Given the description of an element on the screen output the (x, y) to click on. 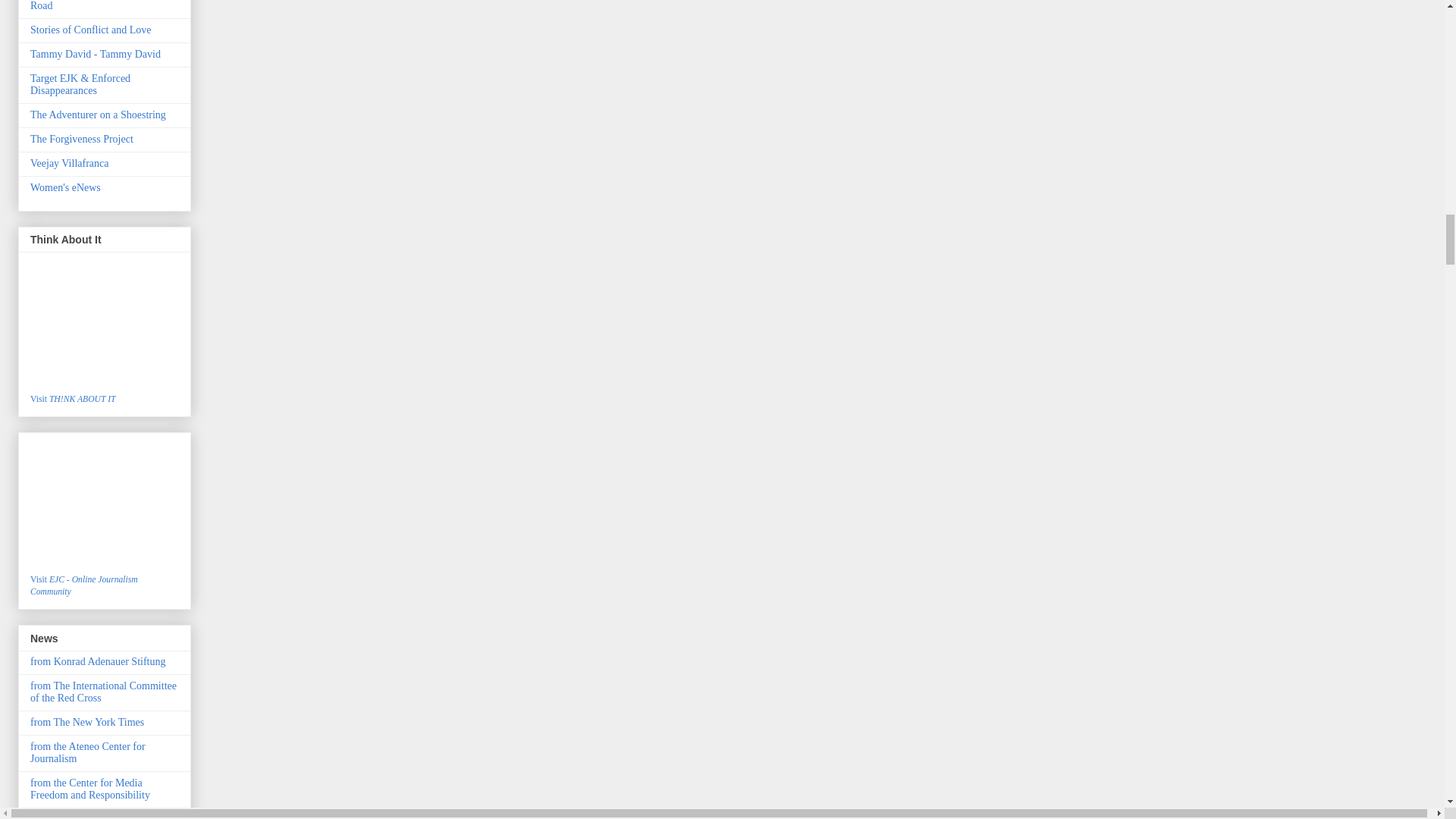
Stories of Conflict and Love (90, 30)
Sonny Yabao: Strange and Lonely Road (102, 5)
